Given the description of an element on the screen output the (x, y) to click on. 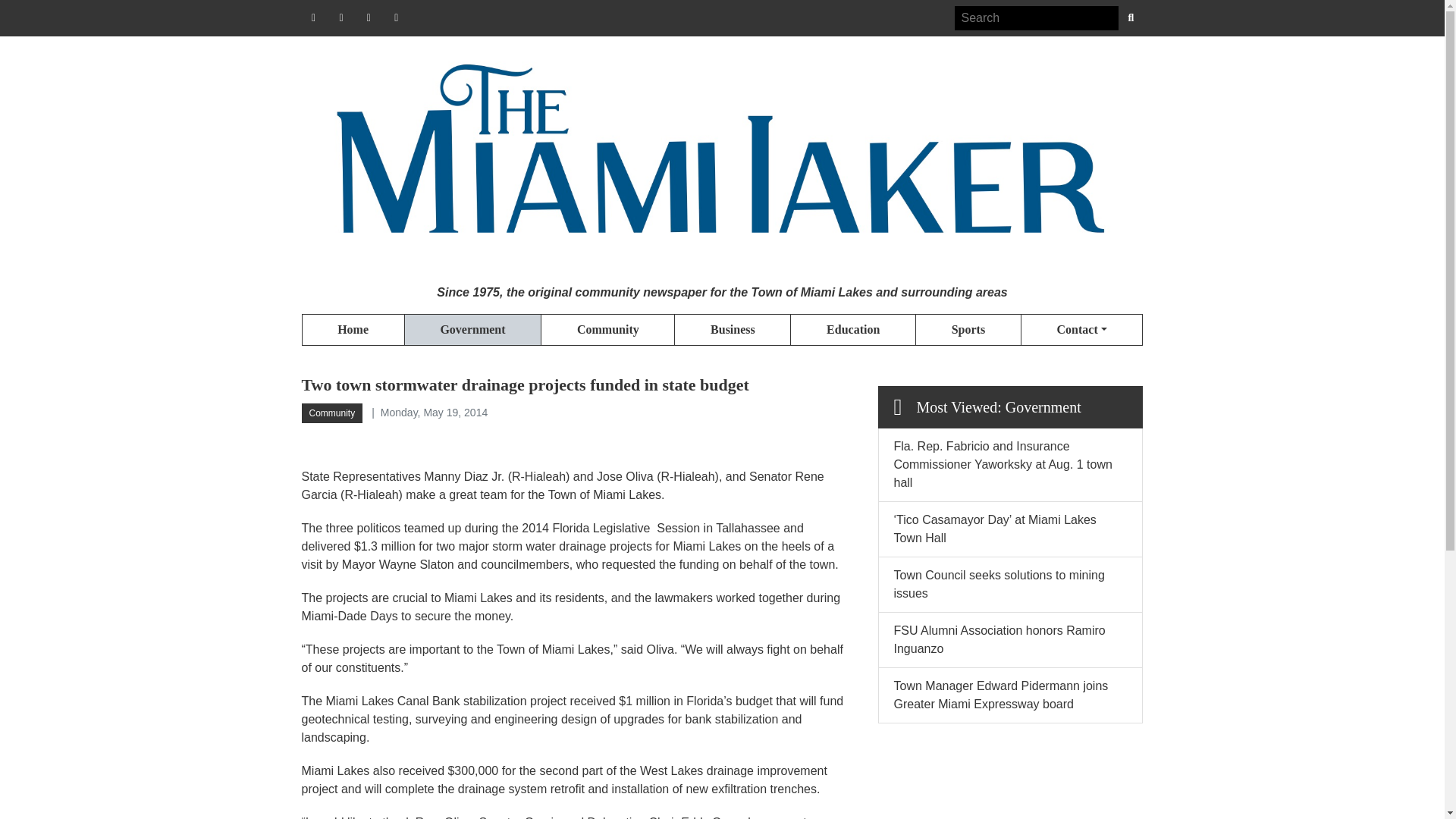
Sign up for our Newsletter (396, 17)
Instagram (368, 17)
Government (472, 329)
Search (1036, 17)
Education (852, 329)
Business (732, 329)
Home (352, 329)
Email (396, 17)
Community (607, 329)
Search (1130, 17)
Facebook (313, 17)
Connect with us on Twitter (341, 17)
Town Council seeks solutions to mining issues (998, 583)
Connect with us on Facebook (313, 17)
